Given the description of an element on the screen output the (x, y) to click on. 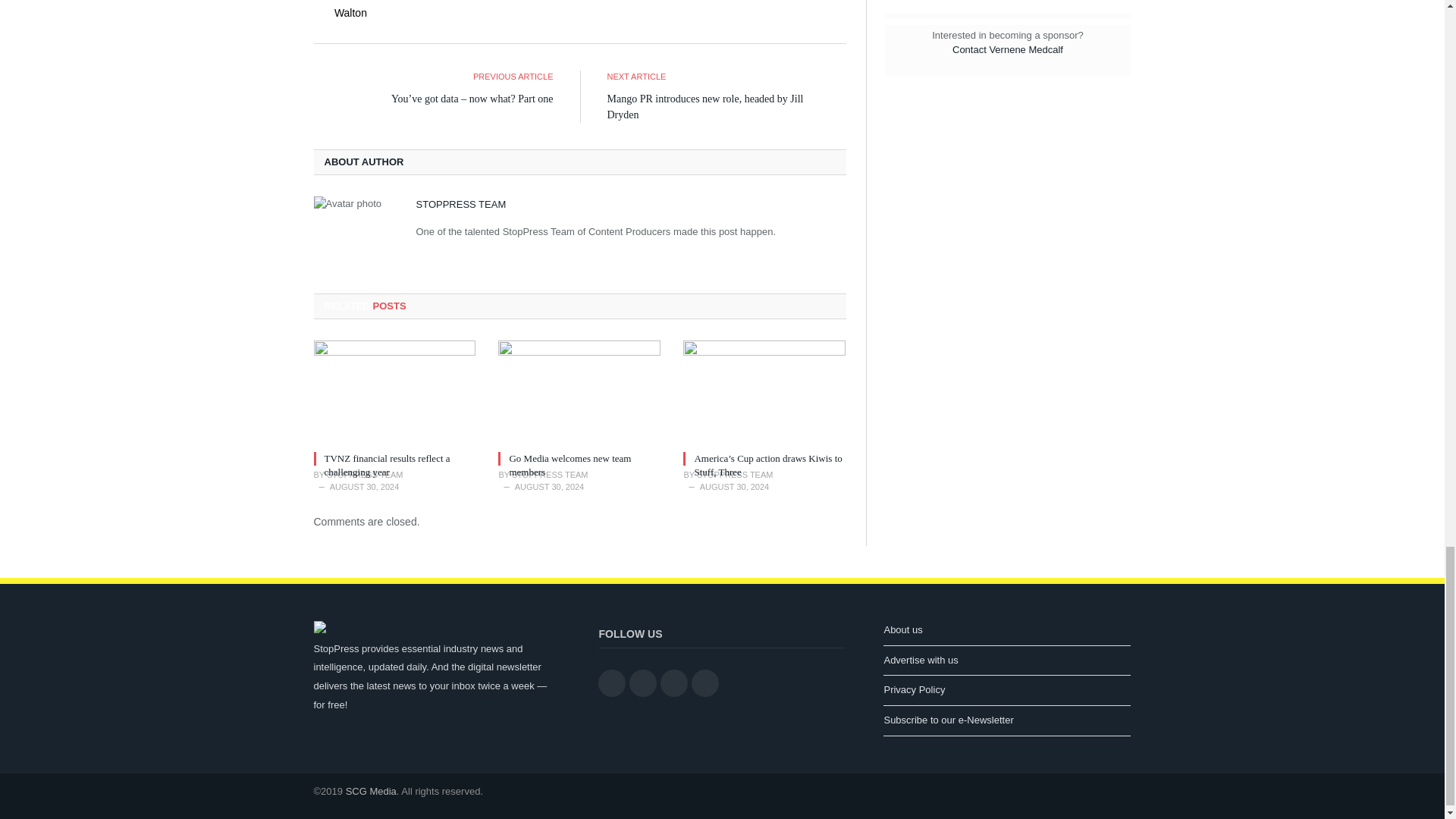
TVNZ financial results reflect a challenging year (386, 464)
Posts by StopPress Team (364, 474)
TVNZ financial results reflect a challenging year (395, 393)
Posts by StopPress Team (459, 204)
